Given the description of an element on the screen output the (x, y) to click on. 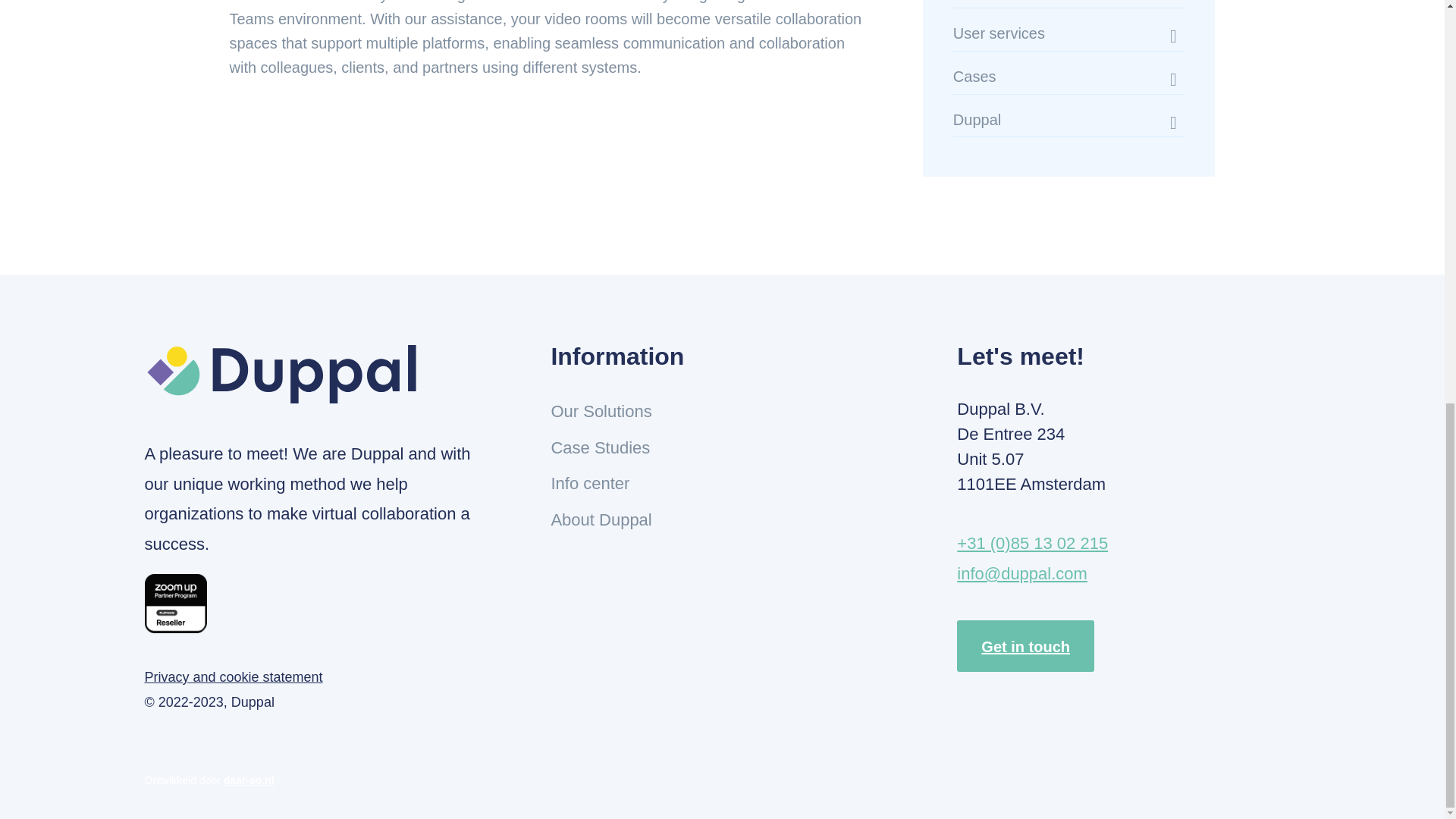
Zoom Partner Platinum logo (175, 603)
logo duppal-01 (281, 374)
